Given the description of an element on the screen output the (x, y) to click on. 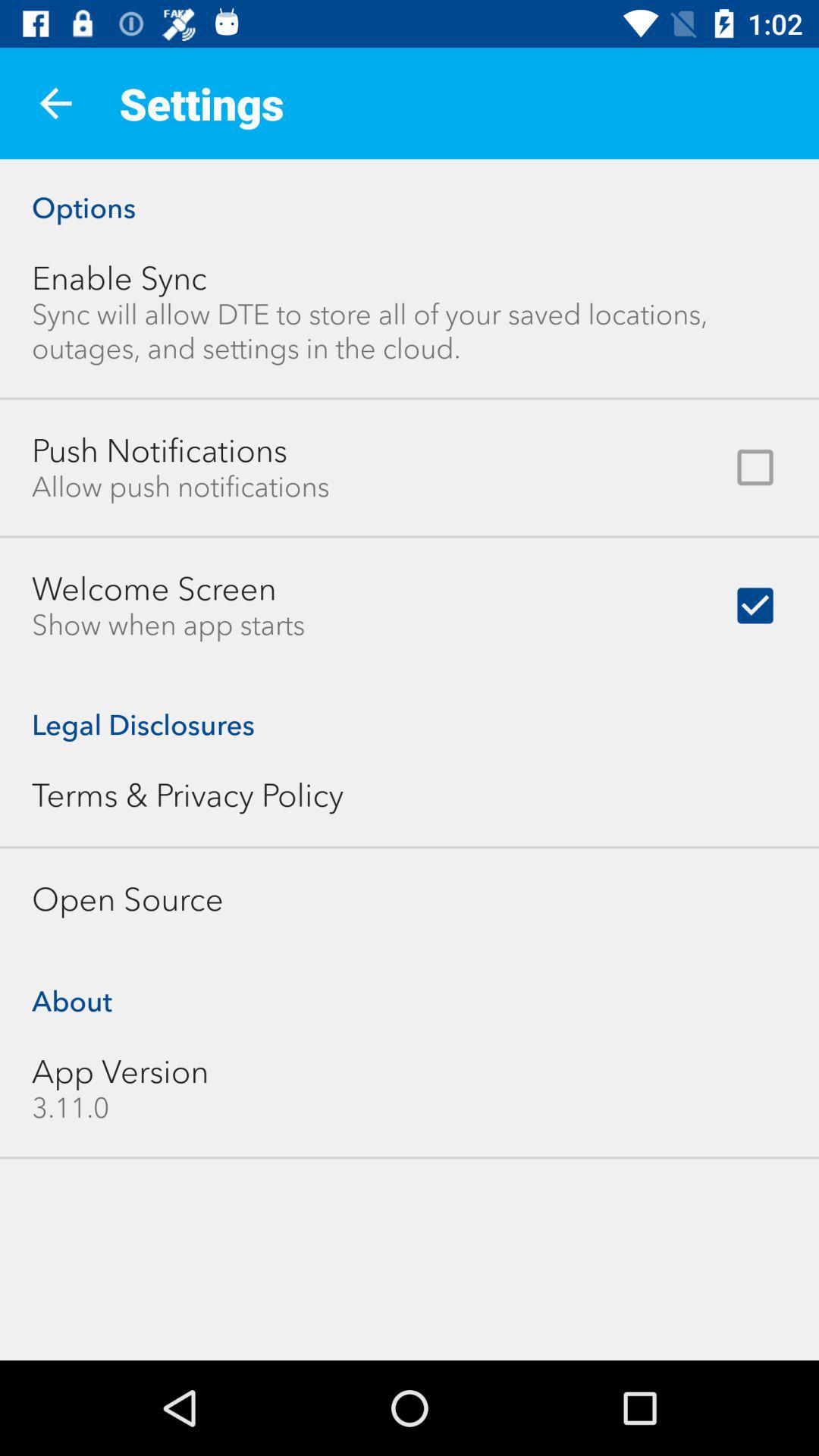
swipe to the enable sync icon (119, 278)
